Given the description of an element on the screen output the (x, y) to click on. 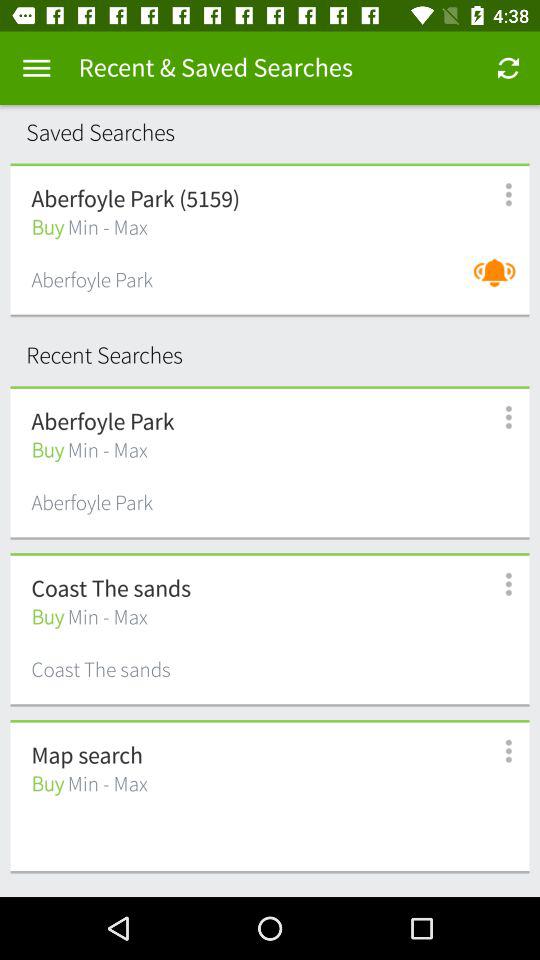
toggle settings (497, 584)
